Given the description of an element on the screen output the (x, y) to click on. 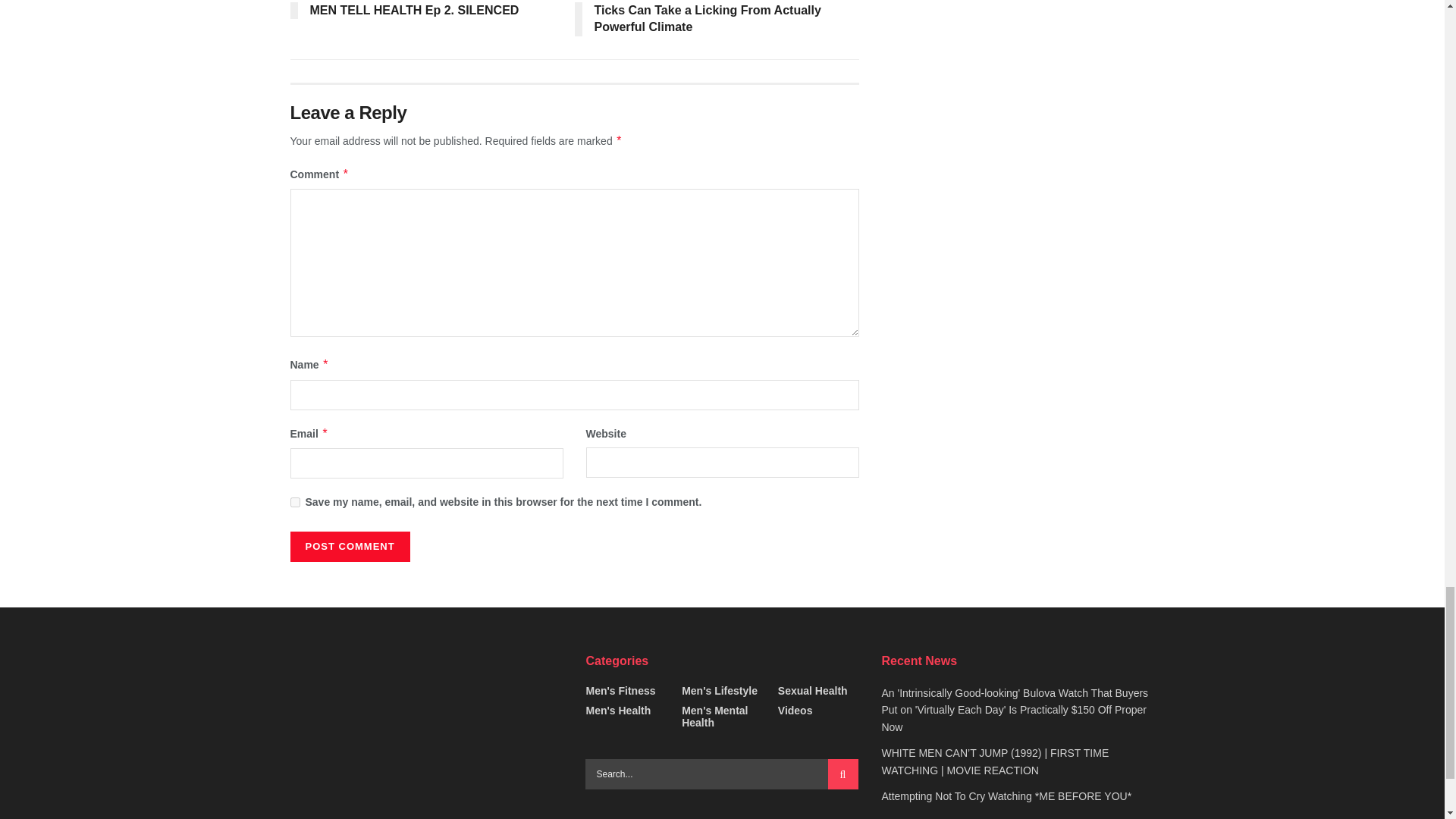
Post Comment (349, 546)
yes (294, 501)
